Given the description of an element on the screen output the (x, y) to click on. 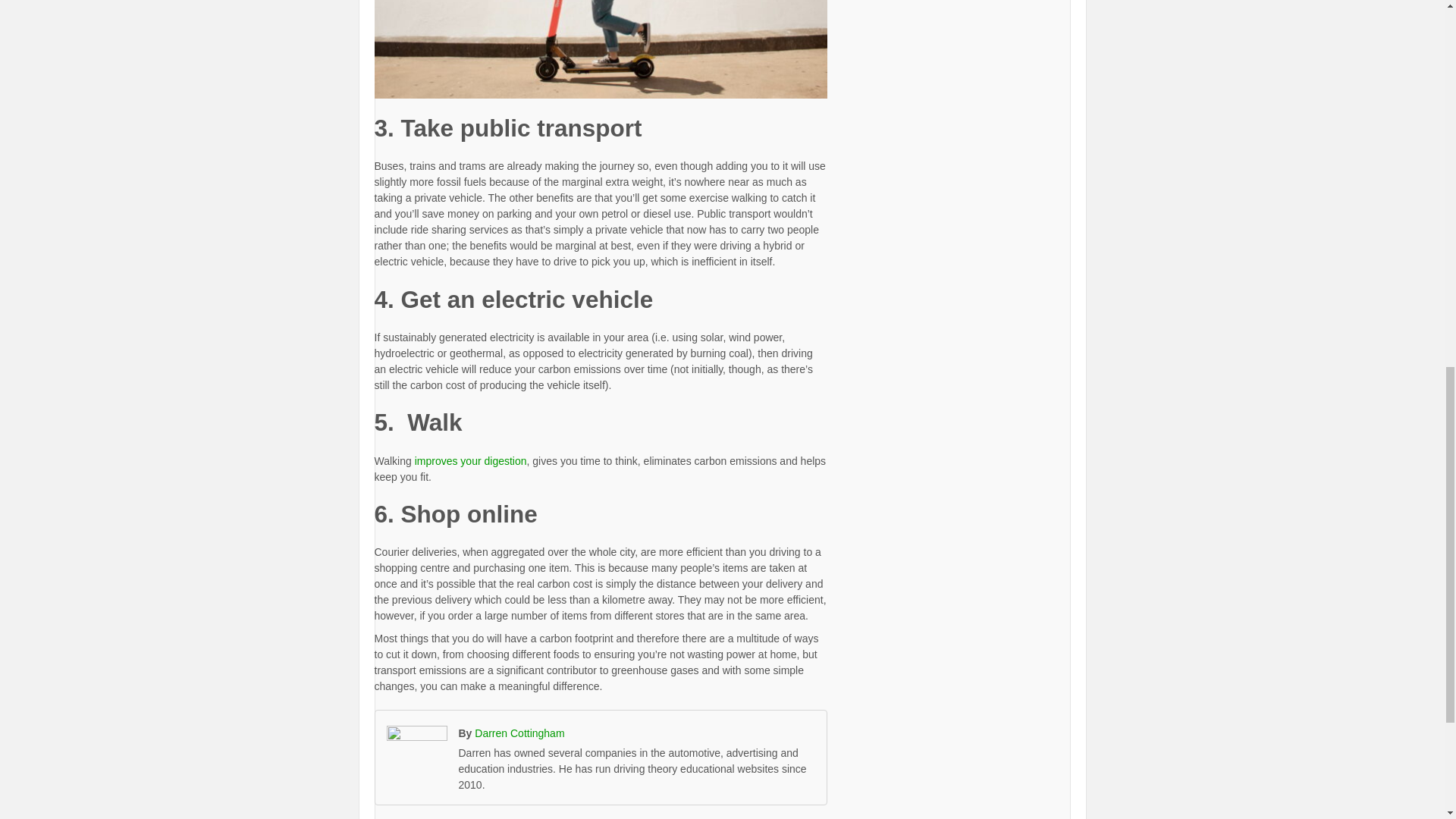
Darren Cottingham (519, 733)
improves your digestion (470, 460)
